Given the description of an element on the screen output the (x, y) to click on. 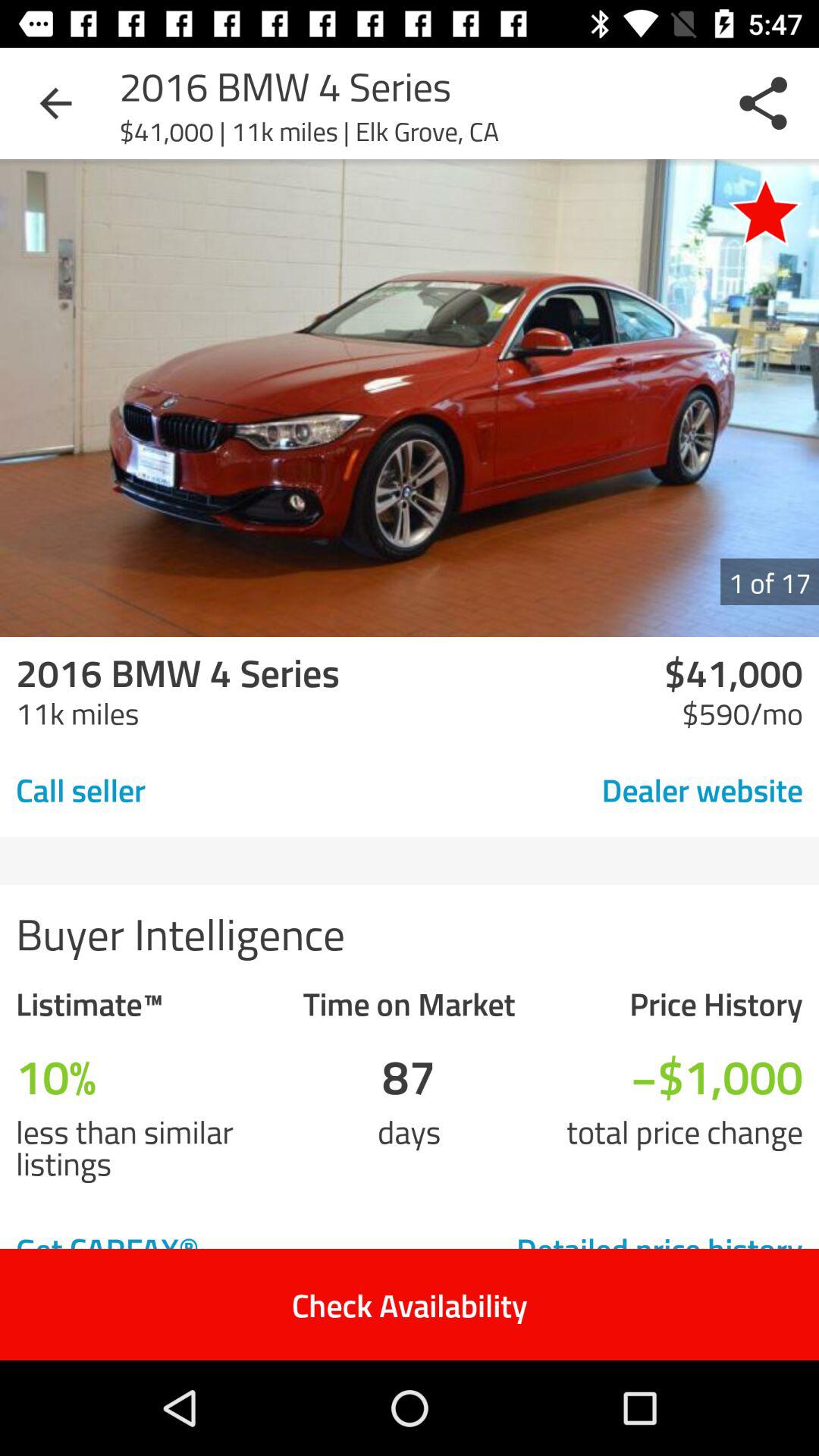
flip until call seller (186, 789)
